Given the description of an element on the screen output the (x, y) to click on. 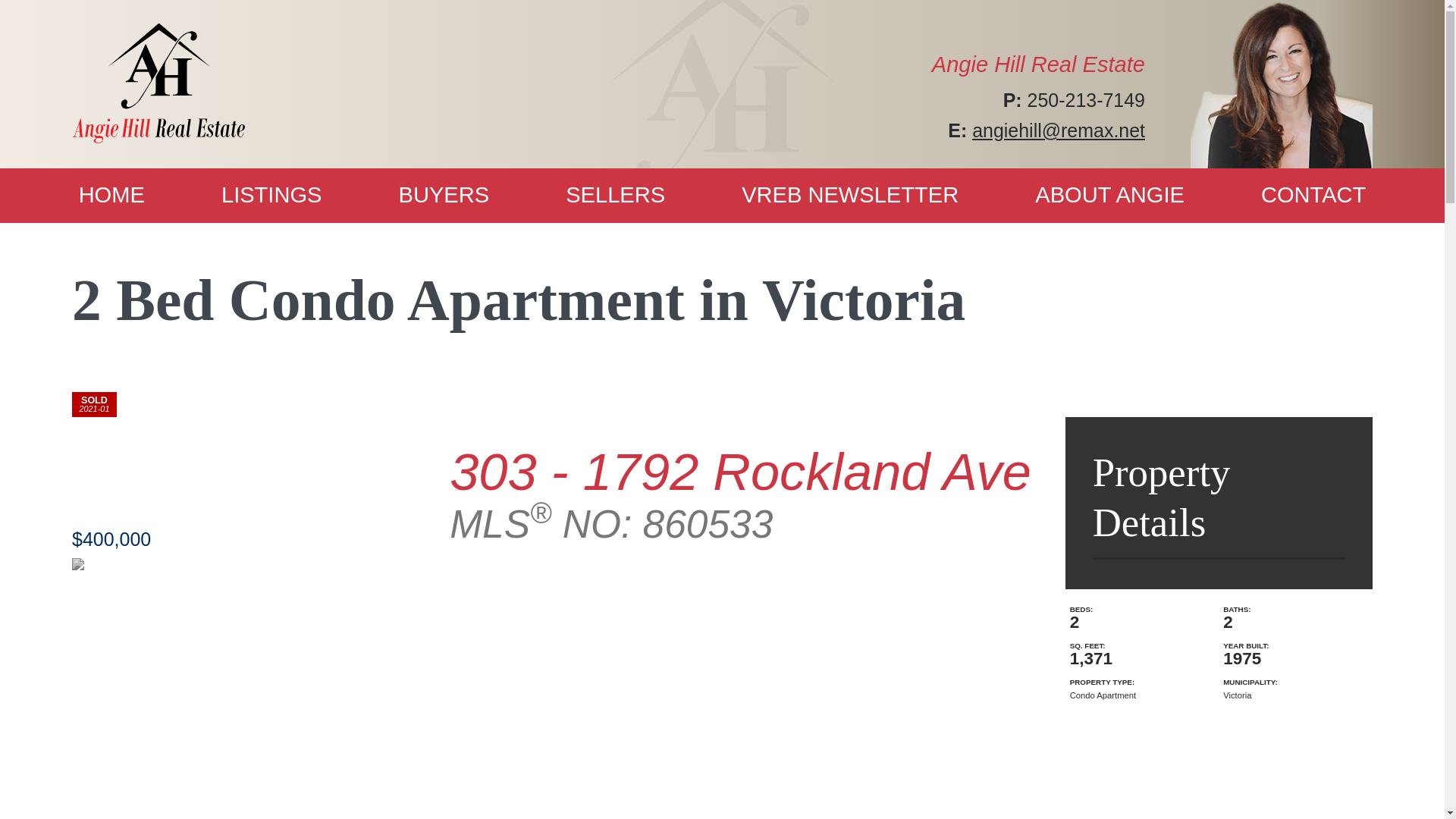
CONTACT Element type: text (1313, 195)
VREB NEWSLETTER Element type: text (850, 195)
HOME Element type: text (111, 195)
250-213-7149 Element type: text (1086, 99)
BUYERS Element type: text (443, 195)
ABOUT ANGIE Element type: text (1109, 195)
LISTINGS Element type: text (271, 195)
angiehill@remax.net Element type: text (1058, 130)
SELLERS Element type: text (615, 195)
